Given the description of an element on the screen output the (x, y) to click on. 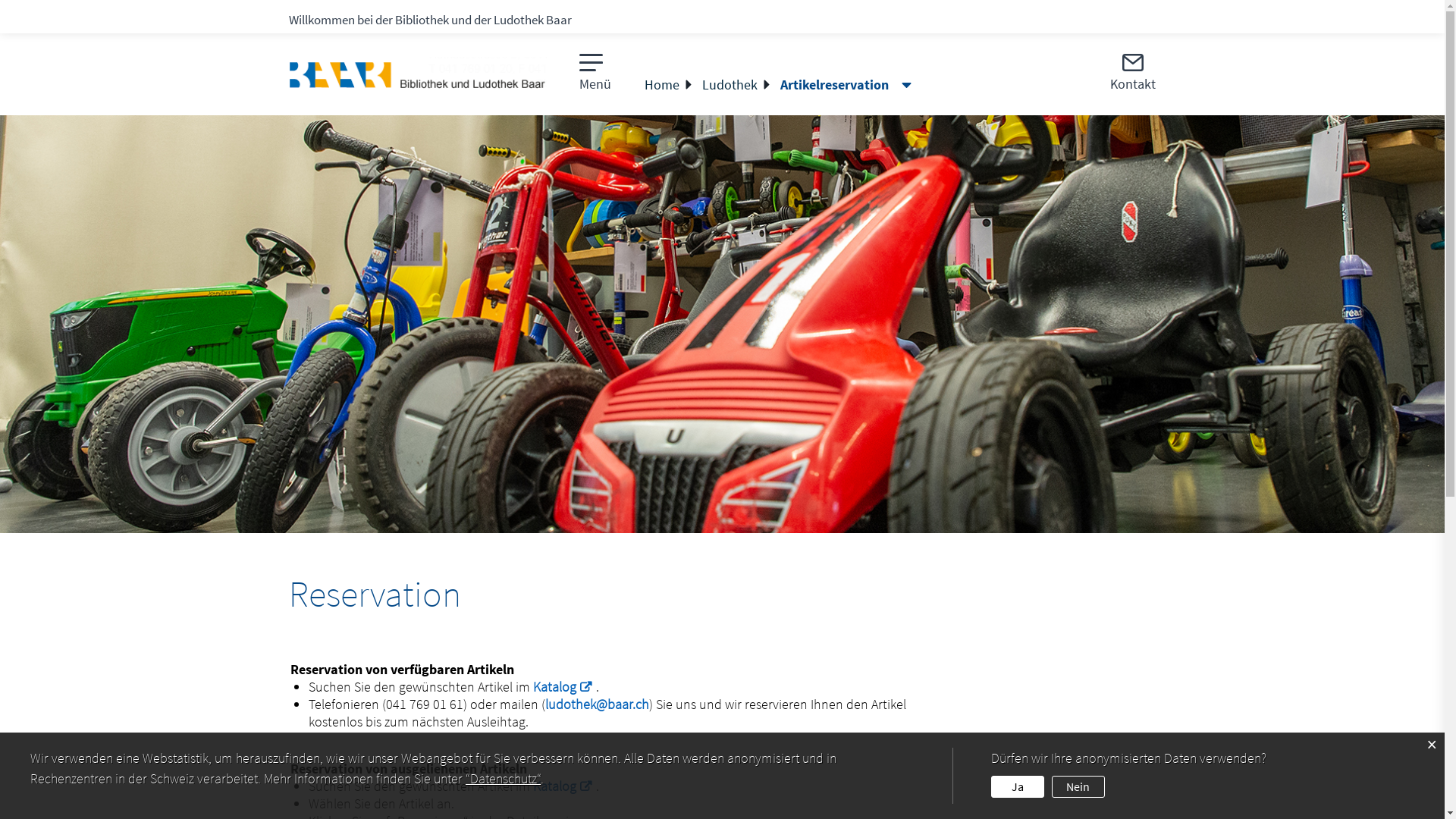
Artikelreservation Element type: text (840, 84)
Katalog Element type: text (564, 785)
Home Element type: text (662, 84)
Katalog Element type: text (564, 686)
Kontakt Element type: text (1132, 72)
Ja Element type: text (1017, 786)
ludothek@baar.ch Element type: text (597, 703)
Nein Element type: text (1077, 786)
Ludothek Element type: text (730, 84)
